Given the description of an element on the screen output the (x, y) to click on. 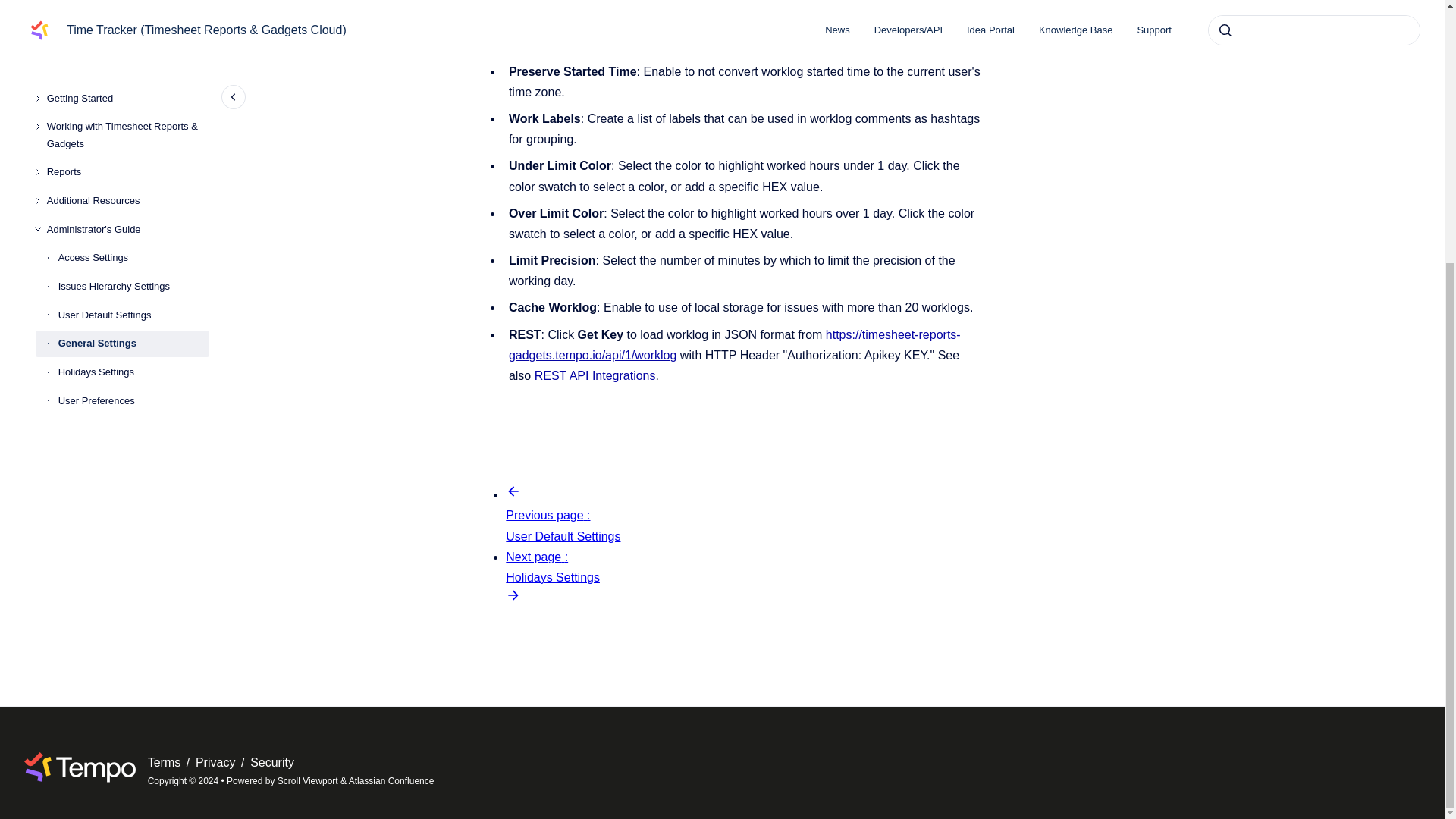
Security (272, 762)
User Preferences (133, 22)
Holidays Settings (133, 4)
Scroll Viewport (309, 780)
Privacy (216, 762)
REST API Integrations (595, 375)
Atlassian Confluence (391, 780)
Terms (166, 762)
